Given the description of an element on the screen output the (x, y) to click on. 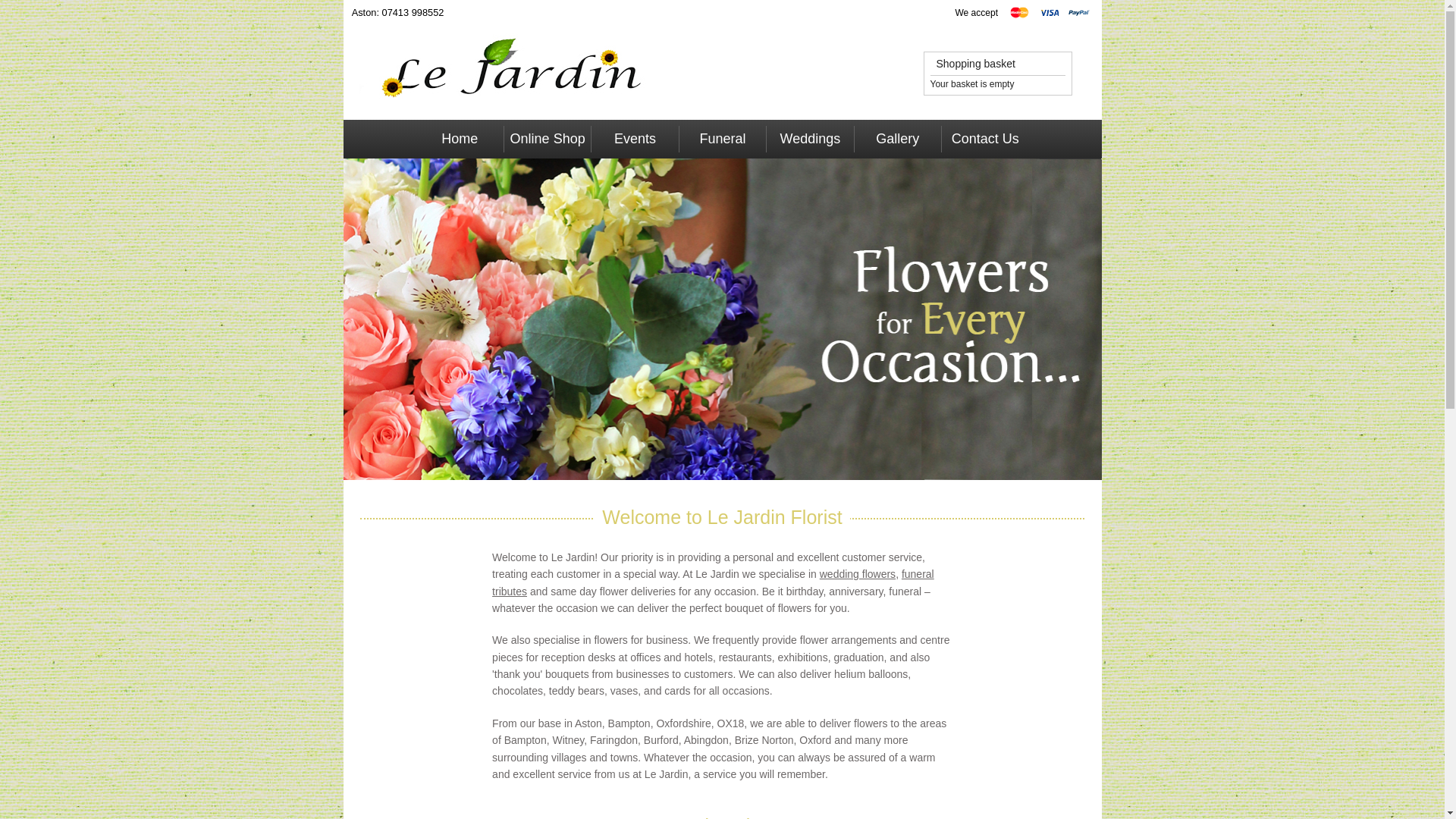
Online Shop (547, 139)
Contact Us (984, 139)
wedding flowers (857, 573)
Shopping basket (972, 63)
Home (458, 139)
Gallery (897, 139)
Events (634, 139)
funeral tributes (713, 582)
Funeral (722, 139)
Weddings (810, 139)
